Given the description of an element on the screen output the (x, y) to click on. 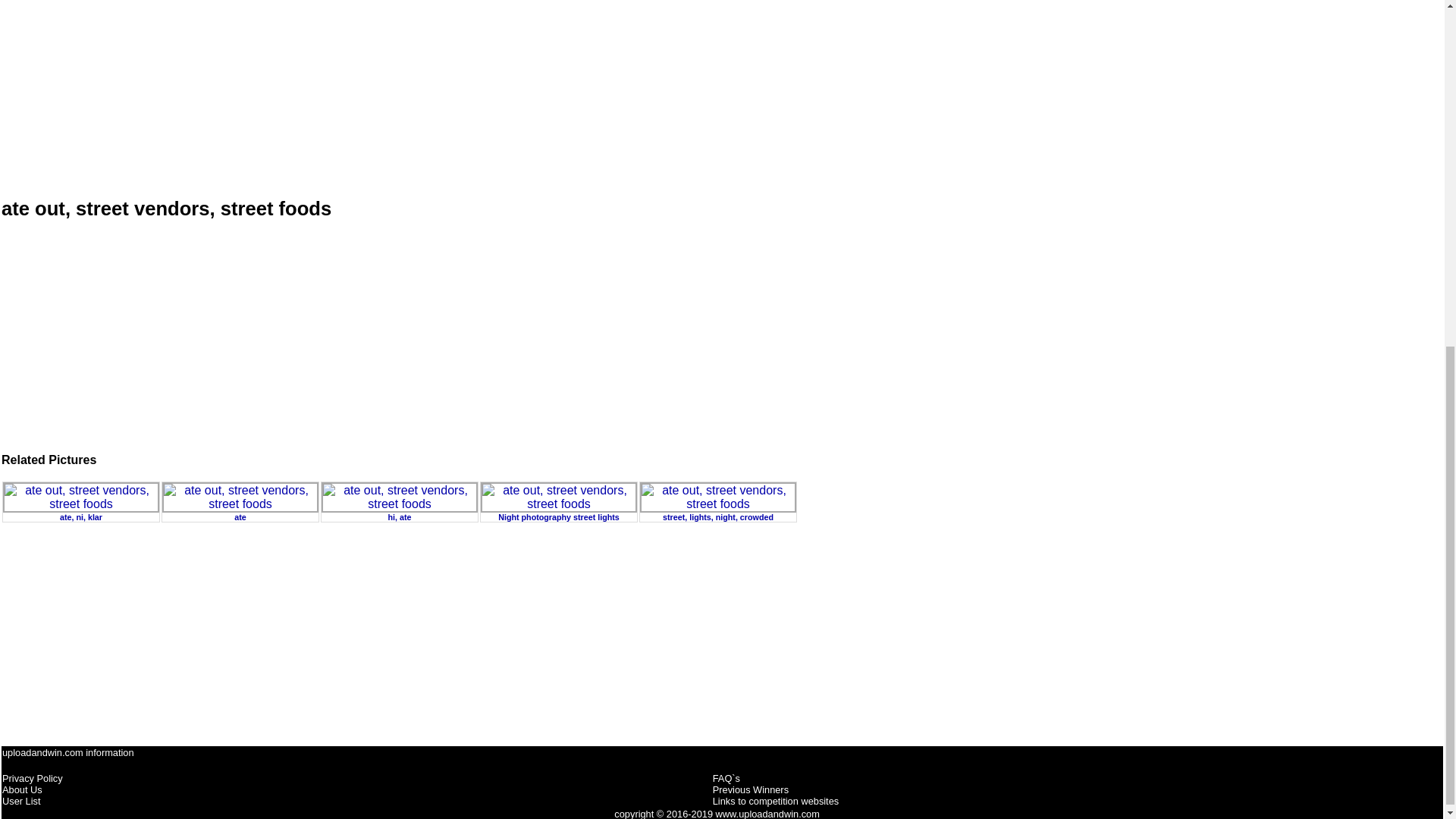
ate out, street vendors, street foods (239, 497)
ate, ni, klar (80, 509)
ate out, street vendors, street foods (80, 497)
ate (239, 509)
Previous Winners (751, 789)
ate out, street vendors, street foods (718, 497)
Night photography street lights (558, 509)
ate out, street vendors, street foods (721, 92)
hi, ate (399, 509)
Privacy Policy (32, 778)
